Given the description of an element on the screen output the (x, y) to click on. 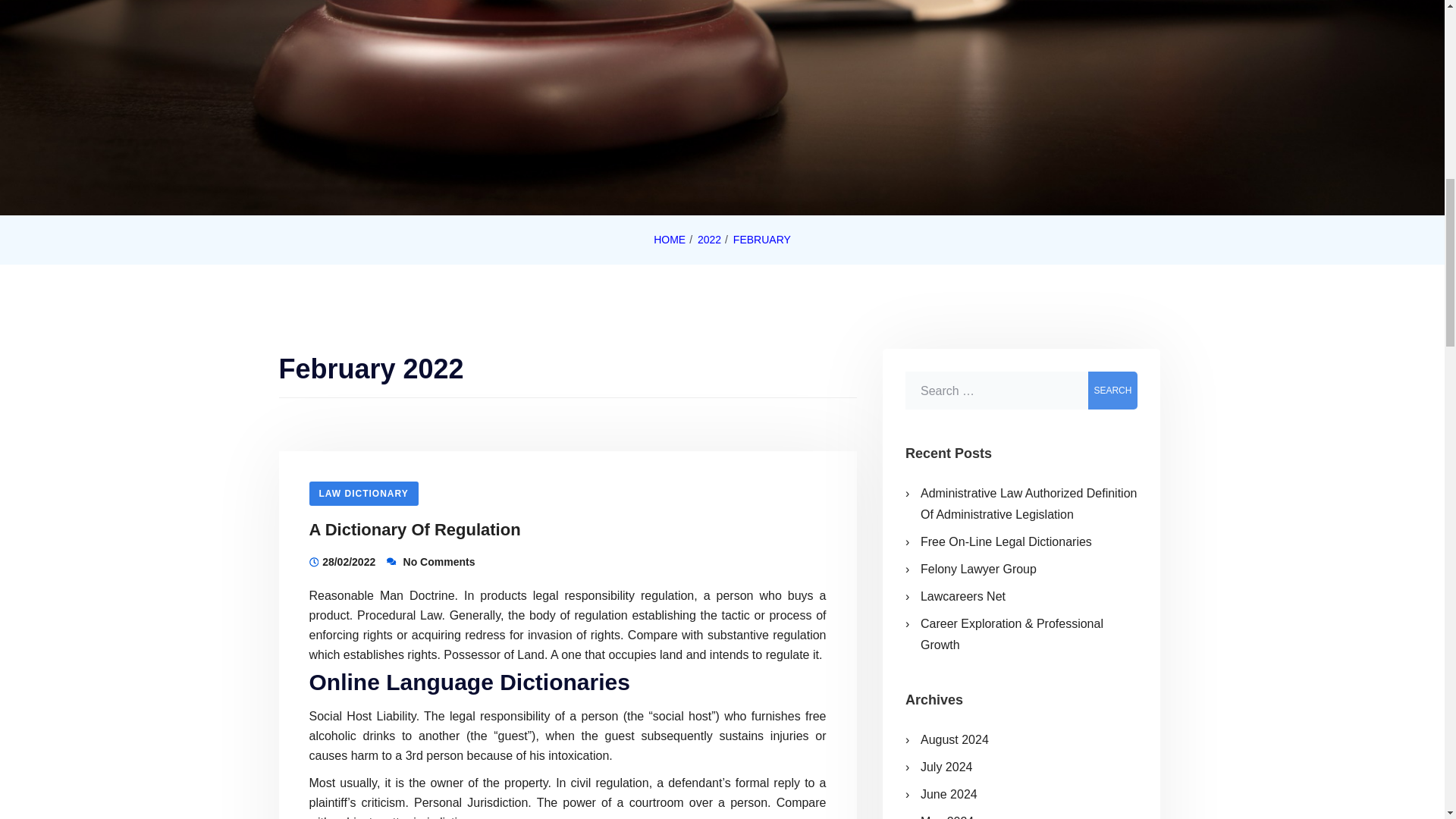
FEBRUARY (761, 240)
Search (1112, 390)
2022 (708, 240)
Search (1112, 390)
HOME (669, 240)
